Given the description of an element on the screen output the (x, y) to click on. 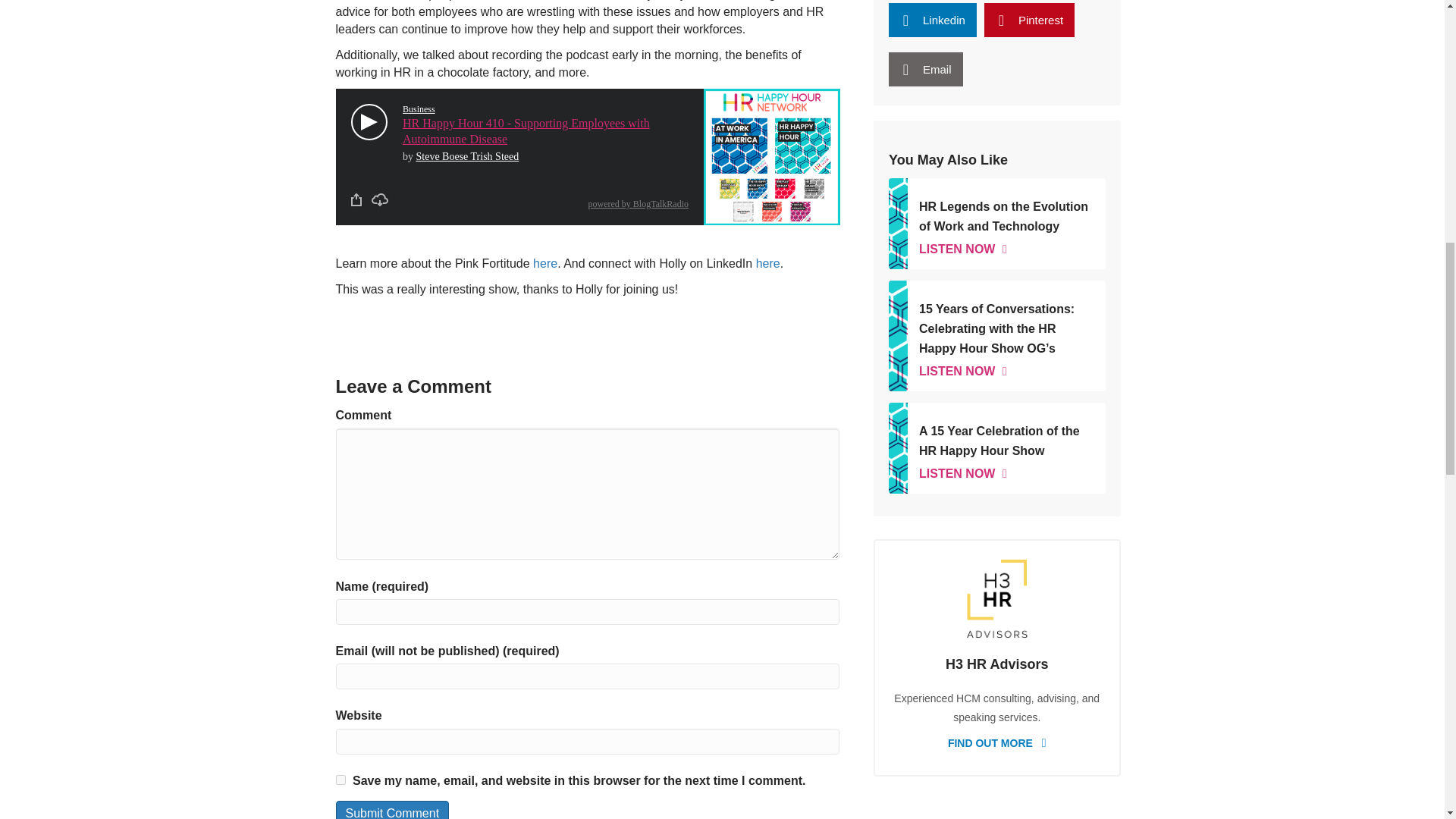
Submit Comment (391, 809)
here (544, 263)
Submit Comment (391, 809)
Linkedin (932, 19)
Pinterest (1029, 19)
FIND OUT MORE (996, 447)
yes (996, 742)
Email (339, 779)
here (925, 69)
